Given the description of an element on the screen output the (x, y) to click on. 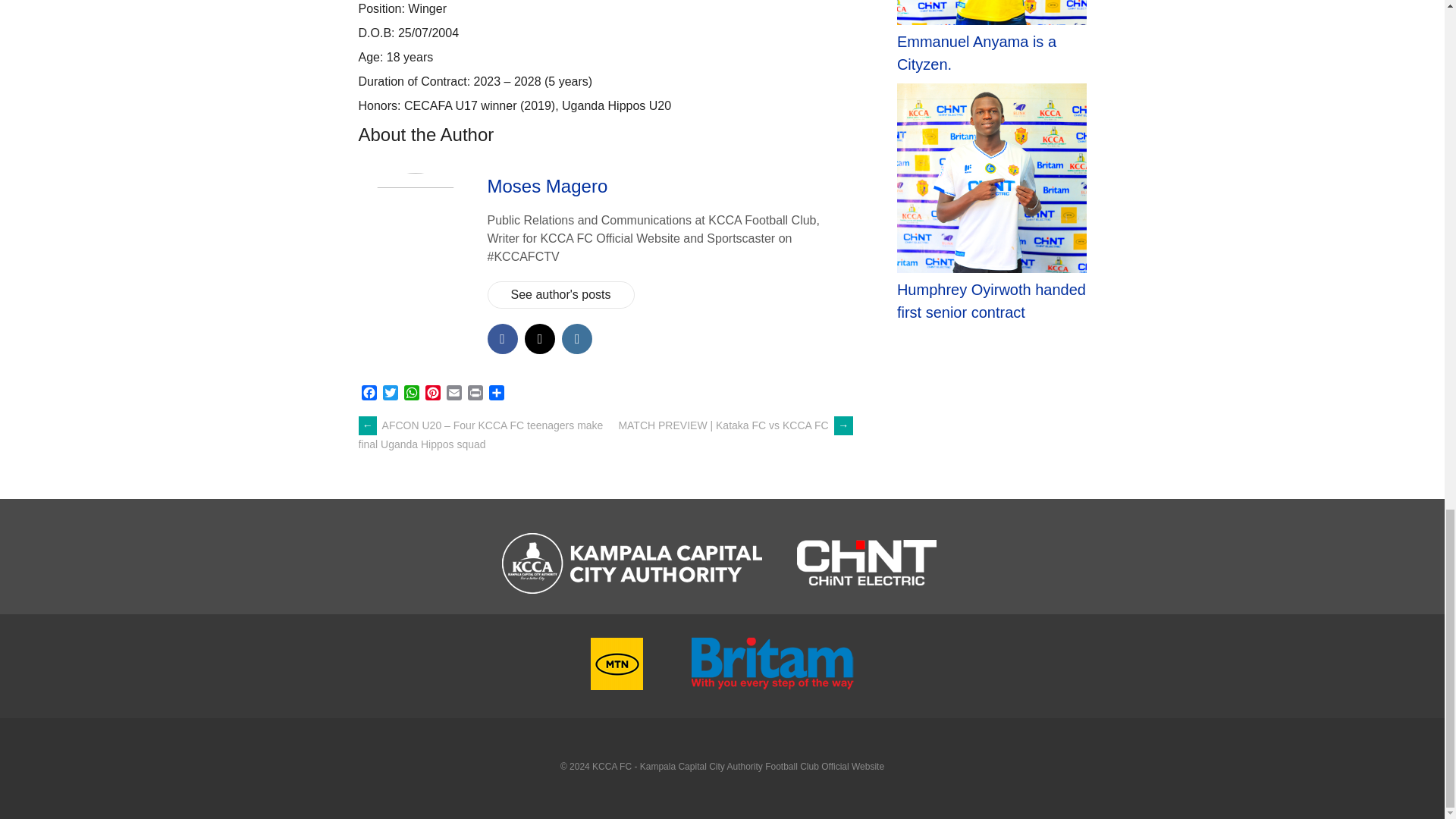
Twitter (389, 394)
WhatsApp (411, 394)
Pinterest (432, 394)
Facebook (368, 394)
